Given the description of an element on the screen output the (x, y) to click on. 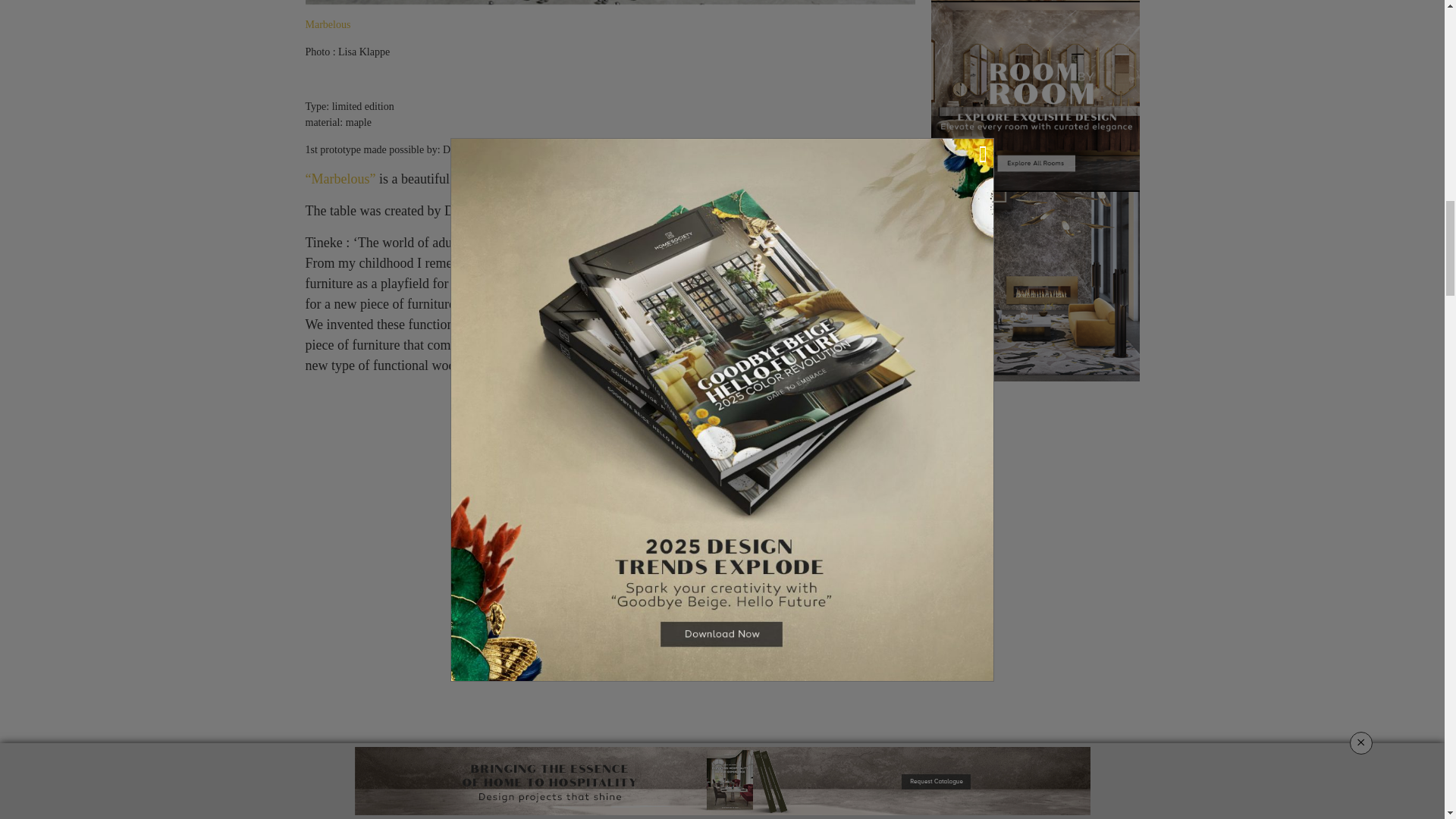
ontwerpduo (327, 24)
Marbelous (327, 24)
